Given the description of an element on the screen output the (x, y) to click on. 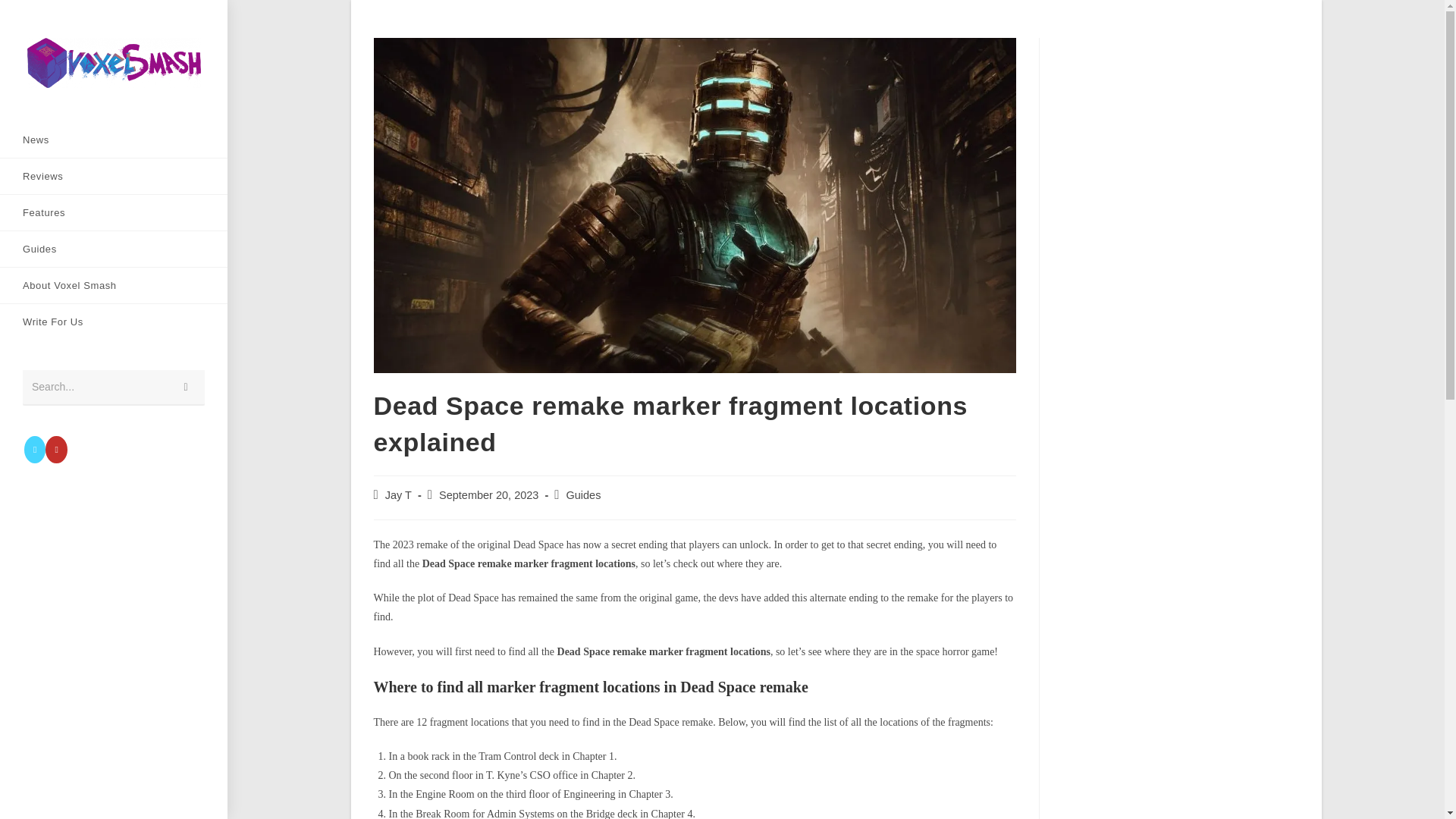
Submit search (186, 387)
Guides (113, 248)
About Voxel Smash (113, 285)
News (113, 140)
Features (113, 212)
Reviews (113, 176)
Write For Us (113, 321)
Jay T (398, 494)
Posts by Jay T (398, 494)
Guides (582, 494)
